Given the description of an element on the screen output the (x, y) to click on. 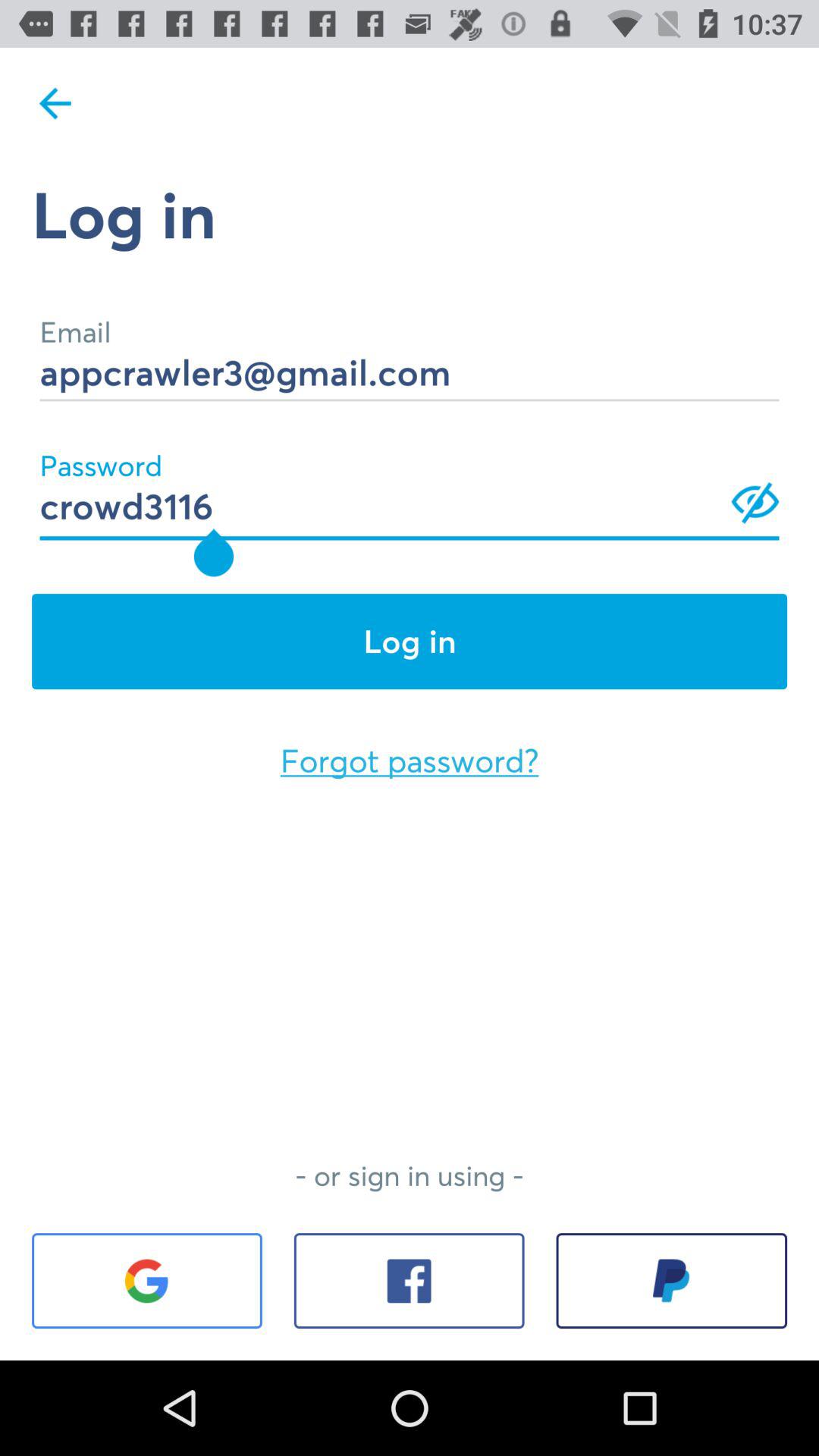
select icon above the or sign in icon (409, 760)
